Given the description of an element on the screen output the (x, y) to click on. 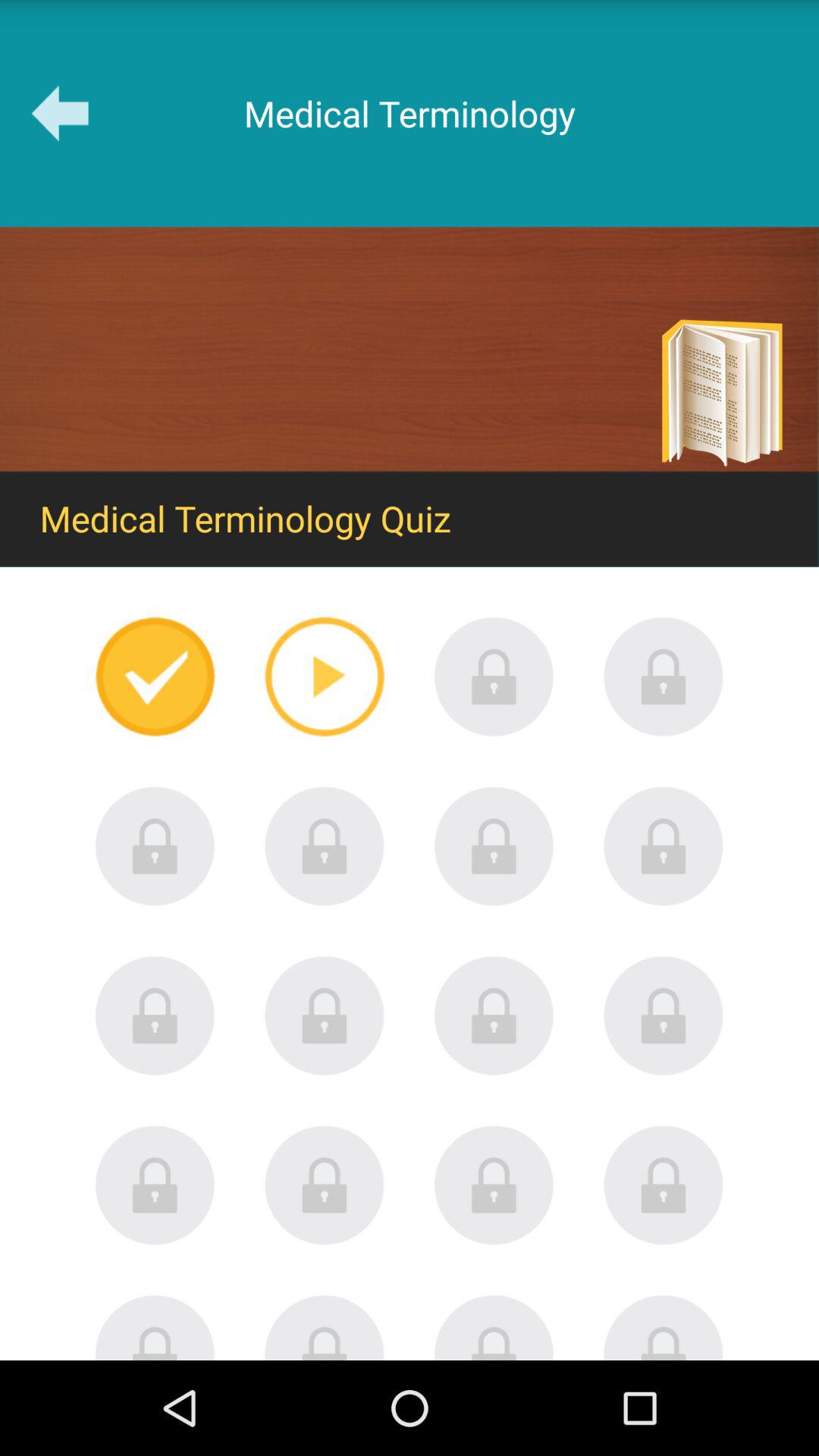
locked question (324, 1327)
